Given the description of an element on the screen output the (x, y) to click on. 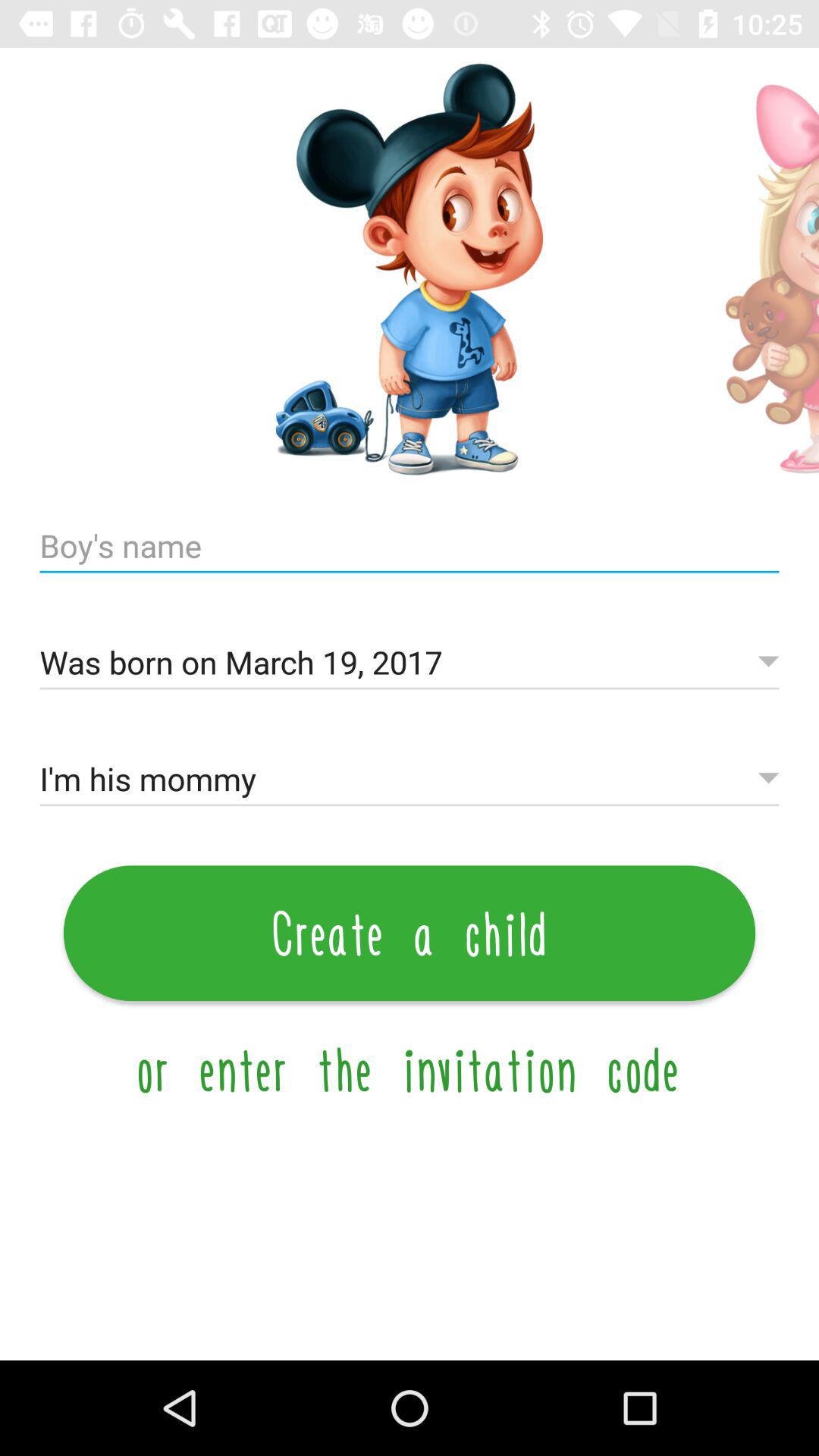
launch i m his icon (409, 779)
